Given the description of an element on the screen output the (x, y) to click on. 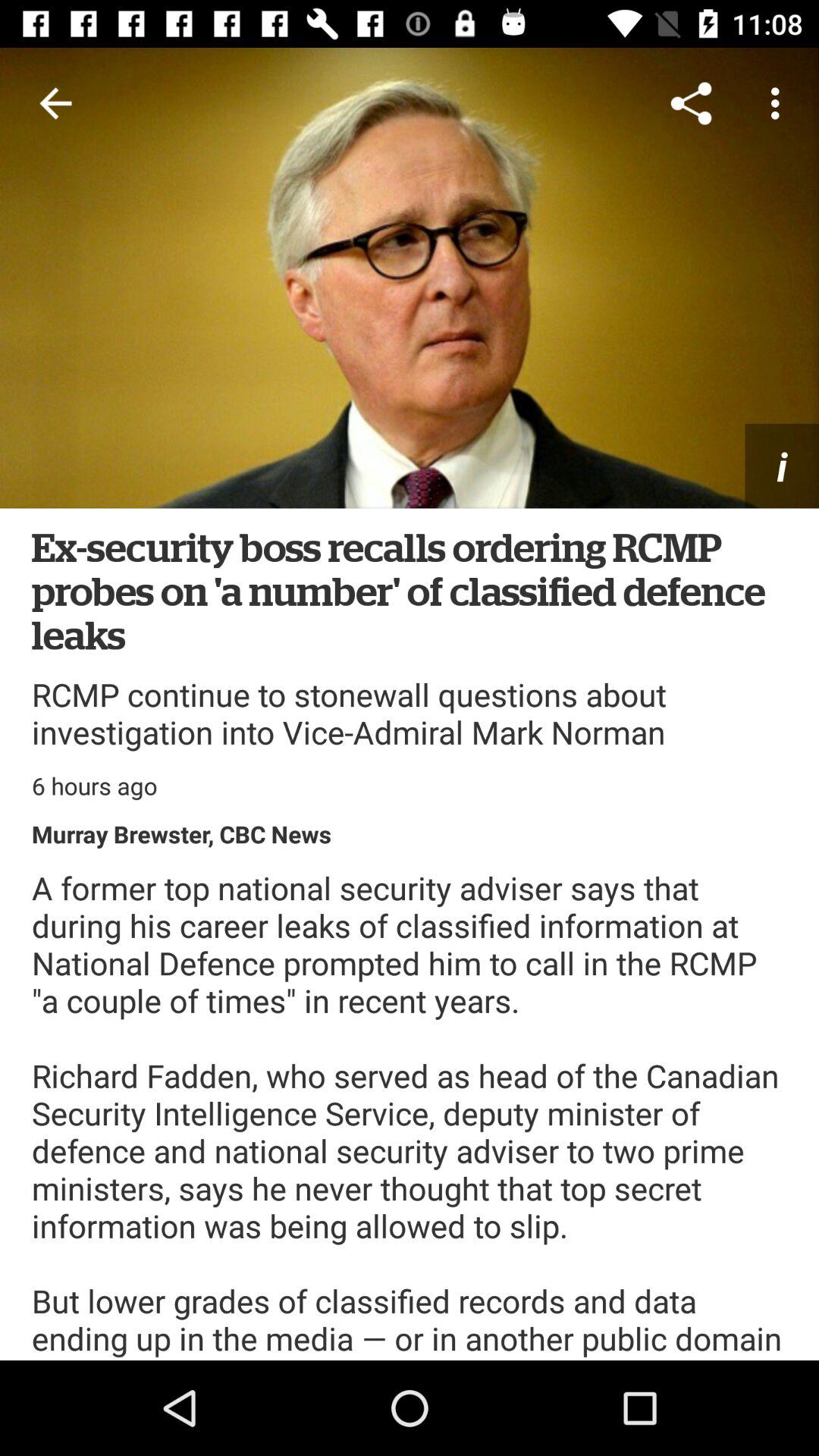
open icon above ex security boss icon (55, 103)
